Given the description of an element on the screen output the (x, y) to click on. 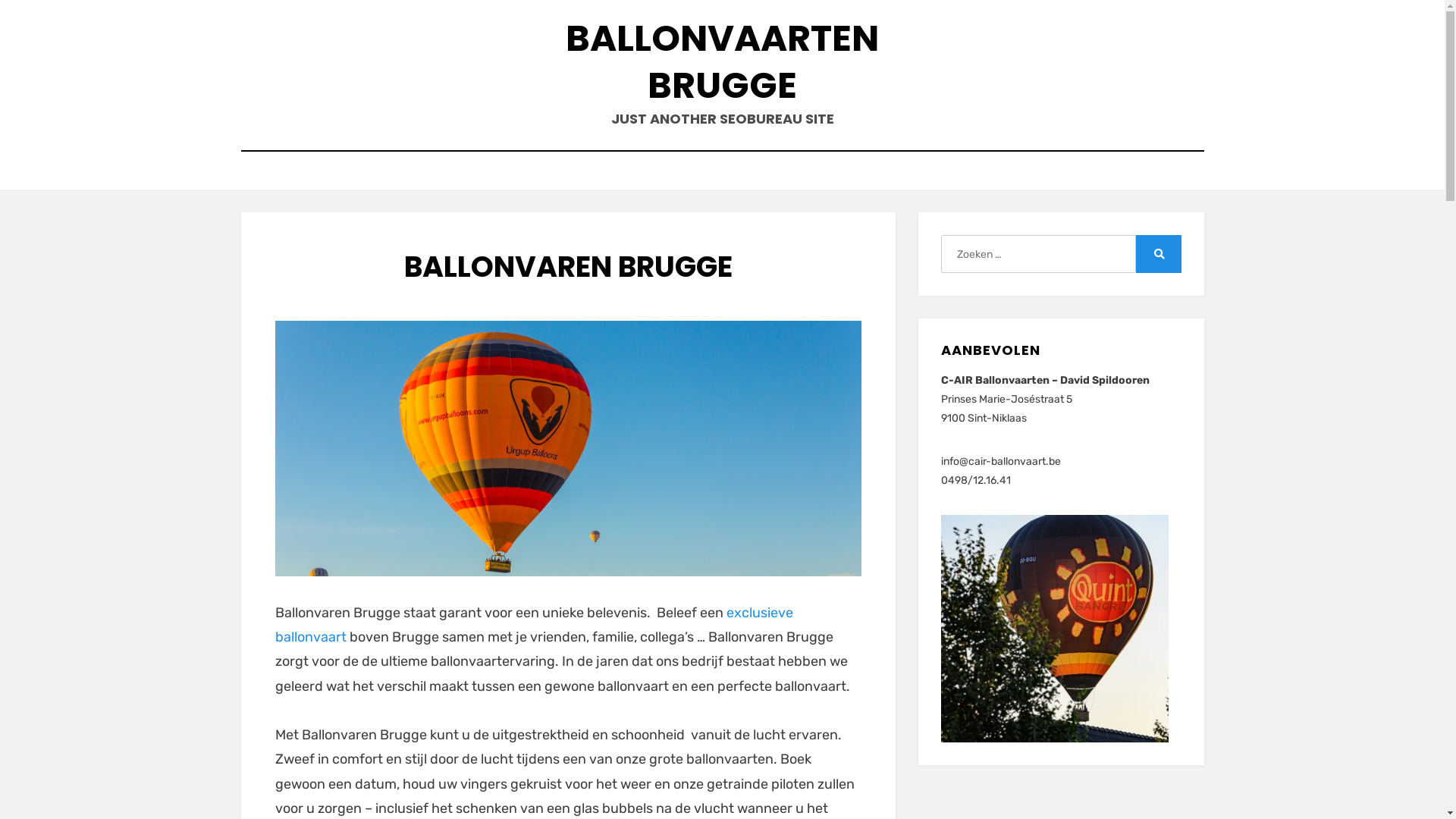
0498/12.16.41 Element type: text (975, 479)
Zoeken naar: Element type: hover (1038, 254)
BALLONVAARTEN BRUGGE Element type: text (721, 61)
Zoeken Element type: text (1158, 254)
info@cair-ballonvaart.be Element type: text (1000, 461)
exclusieve ballonvaart Element type: text (533, 623)
